Given the description of an element on the screen output the (x, y) to click on. 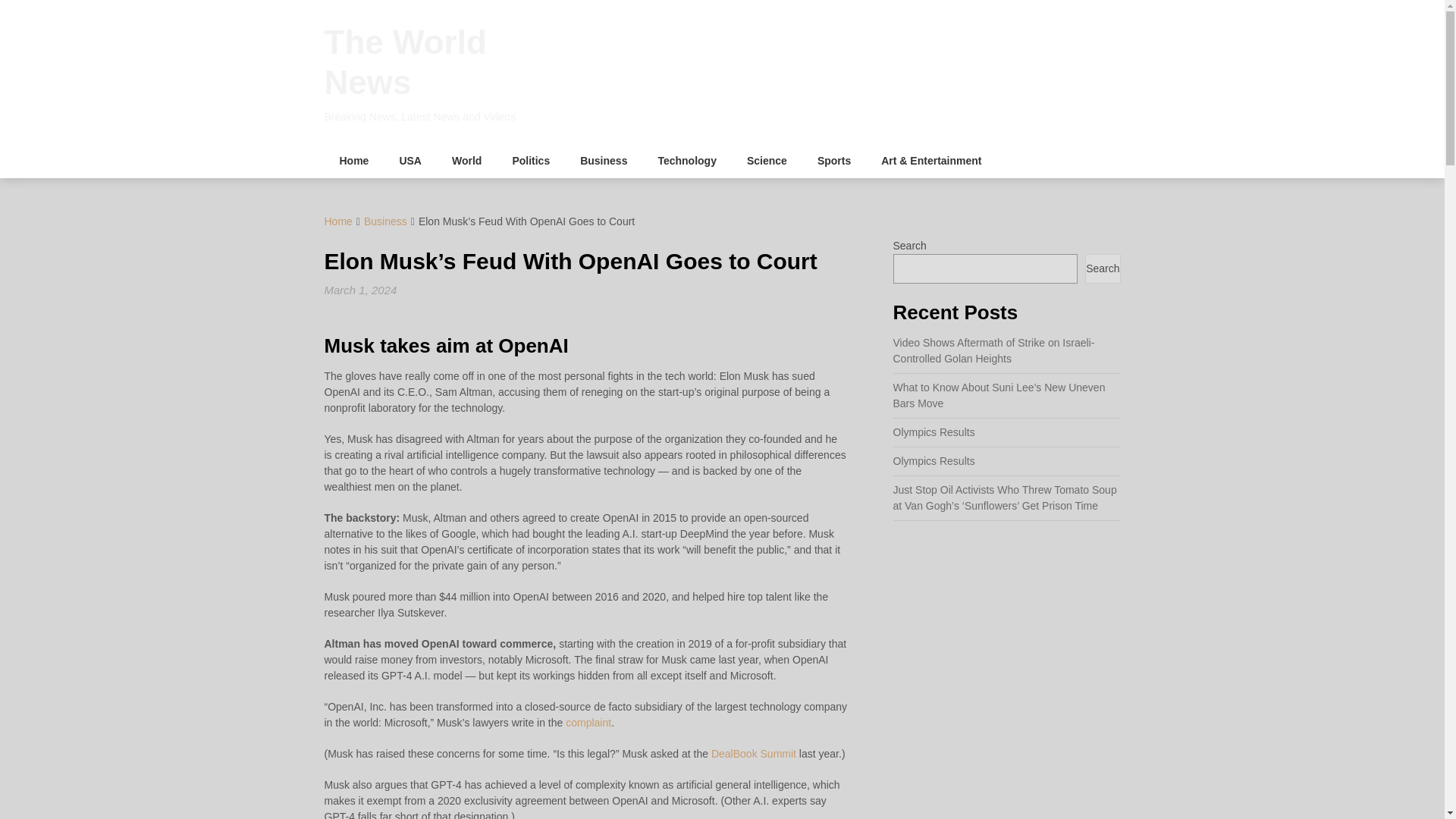
Home (338, 221)
Technology (687, 161)
Search (1101, 268)
Business (603, 161)
Science (767, 161)
complaint (588, 722)
Olympics Results (934, 460)
The World News (405, 61)
Home (354, 161)
Sports (834, 161)
Business (385, 221)
World (466, 161)
USA (410, 161)
Politics (530, 161)
